Given the description of an element on the screen output the (x, y) to click on. 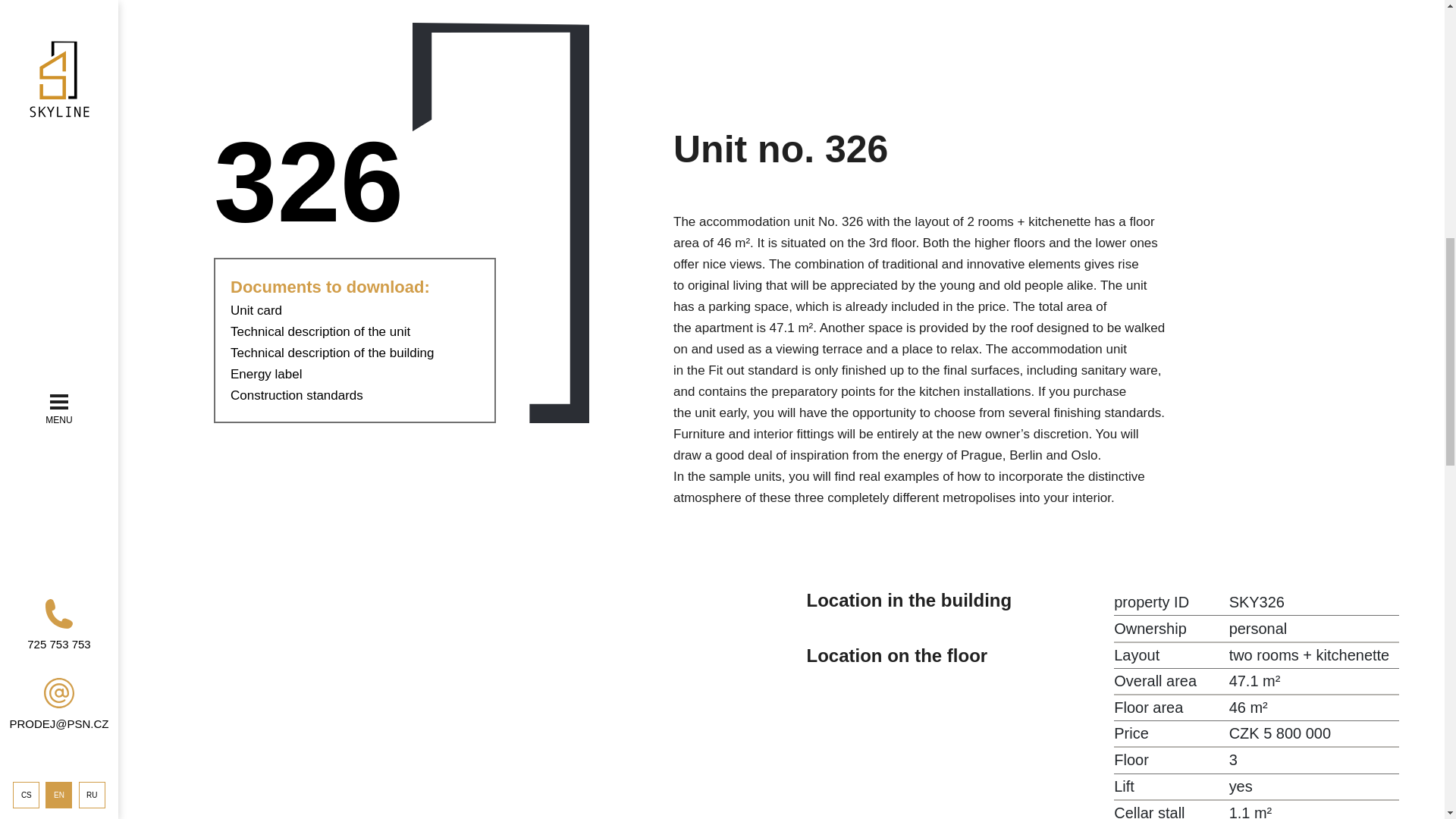
unit card (256, 310)
technical description of the unit (320, 331)
energy label (266, 373)
technical description of the building (331, 352)
construction standards (296, 395)
